Given the description of an element on the screen output the (x, y) to click on. 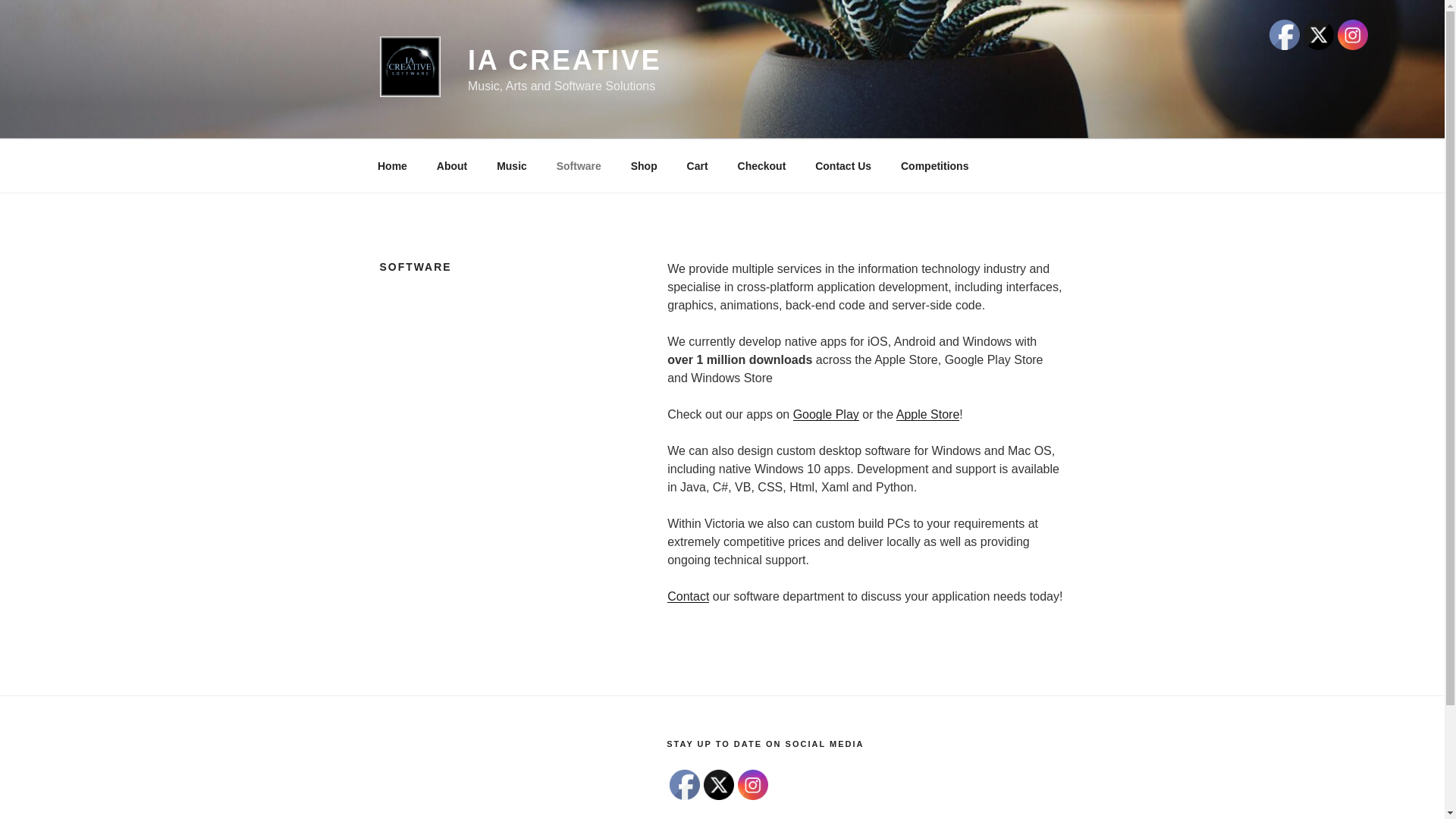
Instagram Element type: hover (752, 784)
Twitter Element type: hover (1318, 34)
Cart Element type: text (697, 165)
Instagram Element type: hover (1352, 34)
Shop Element type: text (643, 165)
Google Play Element type: text (826, 413)
Competitions Element type: text (934, 165)
Twitter Element type: hover (718, 784)
IA CREATIVE Element type: text (564, 59)
Contact Us Element type: text (843, 165)
Home Element type: text (392, 165)
Checkout Element type: text (761, 165)
About Element type: text (451, 165)
Contact Element type: text (688, 595)
Apple Store Element type: text (928, 413)
Software Element type: text (578, 165)
Facebook Element type: hover (1284, 34)
Facebook Element type: hover (684, 784)
Music Element type: text (511, 165)
